Given the description of an element on the screen output the (x, y) to click on. 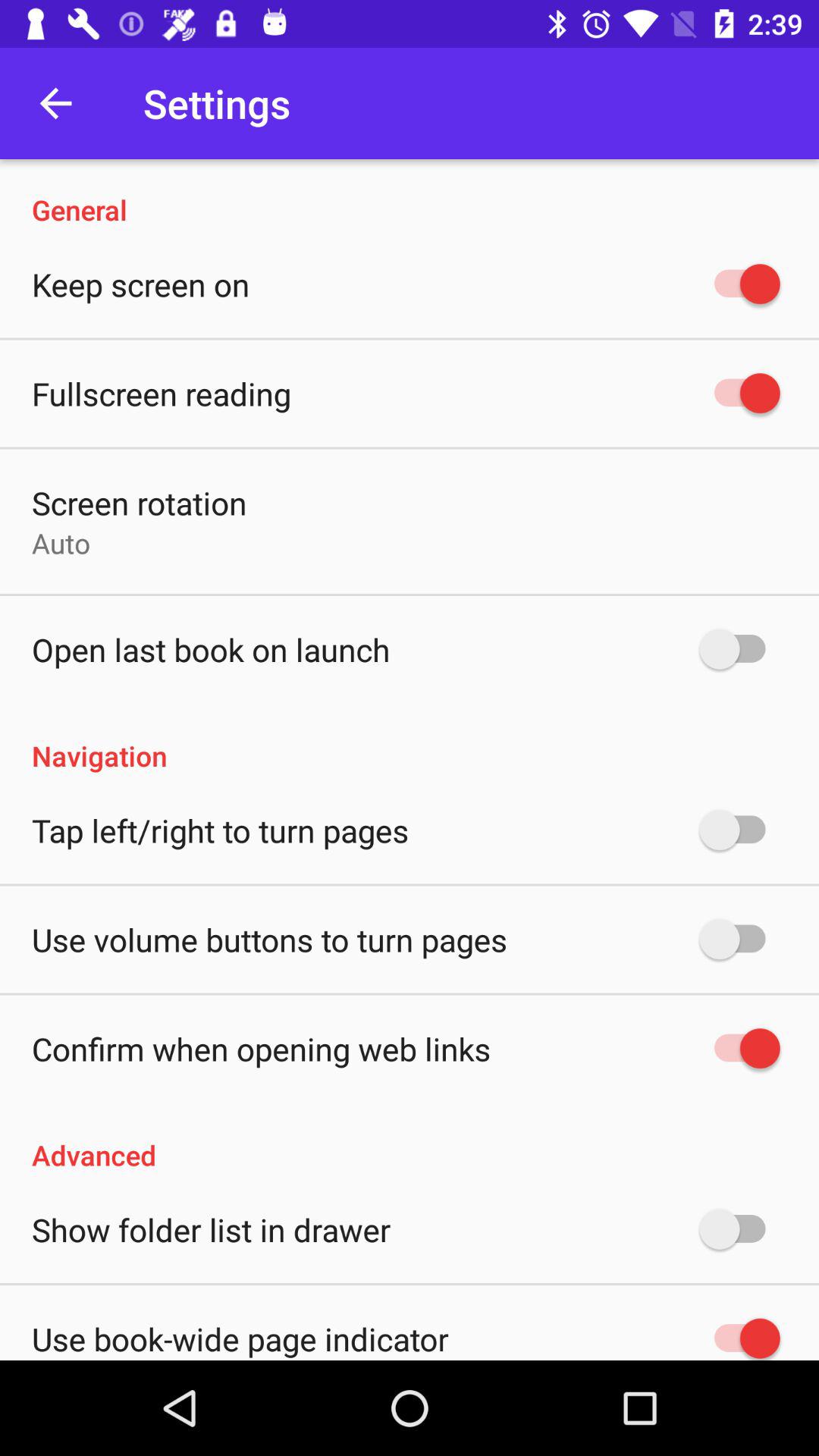
scroll until the use volume buttons (269, 939)
